Given the description of an element on the screen output the (x, y) to click on. 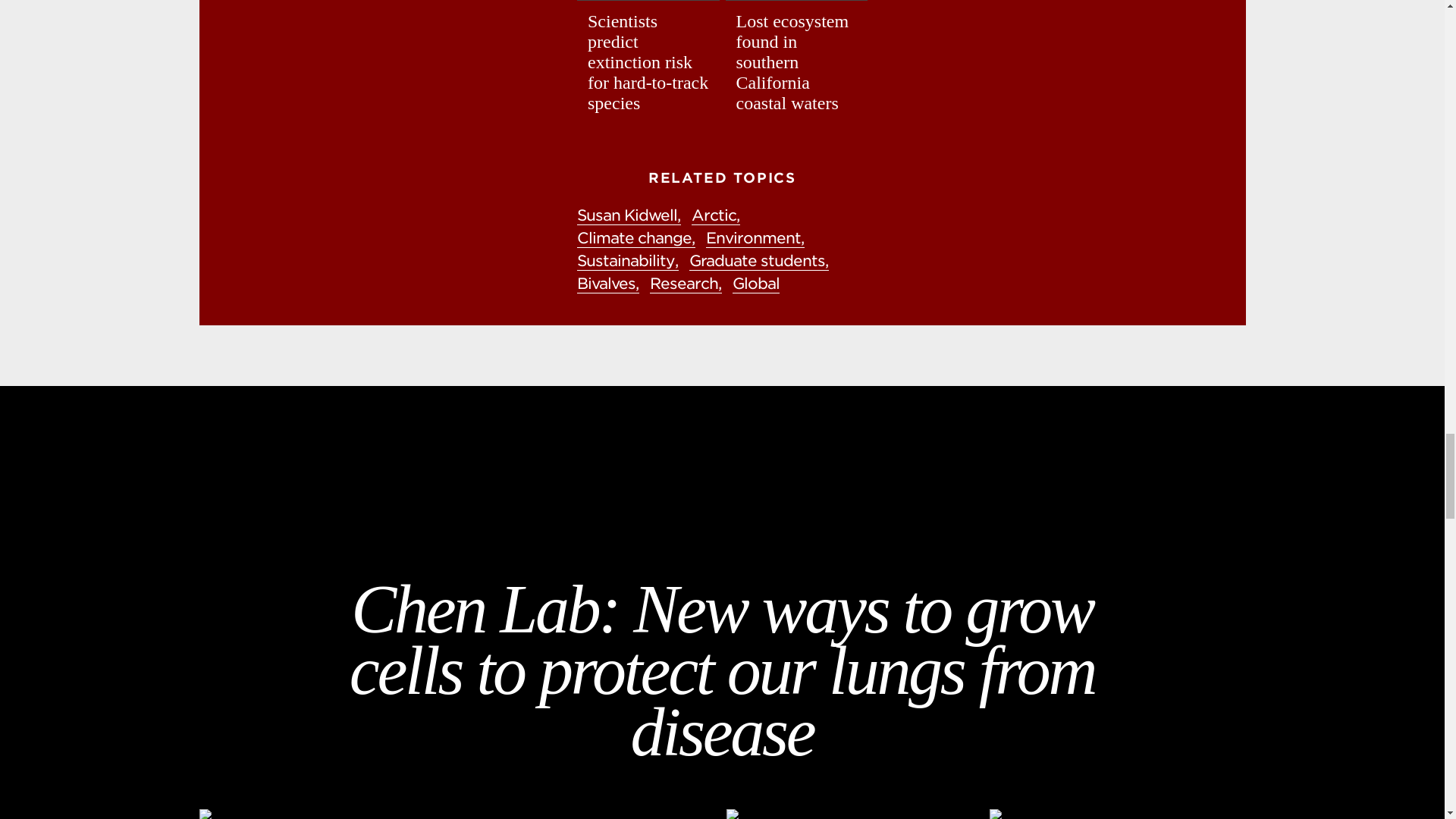
Scientists predict extinction risk for hard-to-track species (647, 62)
Environment (755, 238)
Global (755, 283)
Climate change (635, 238)
Graduate students (758, 261)
Arctic (715, 215)
Bivalves (607, 283)
Research (685, 283)
Lost ecosystem found in southern California coastal waters (796, 62)
Susan Kidwell (628, 215)
Sustainability (627, 261)
Scientists predict extinction risk for hard-to-track species (647, 62)
